Given the description of an element on the screen output the (x, y) to click on. 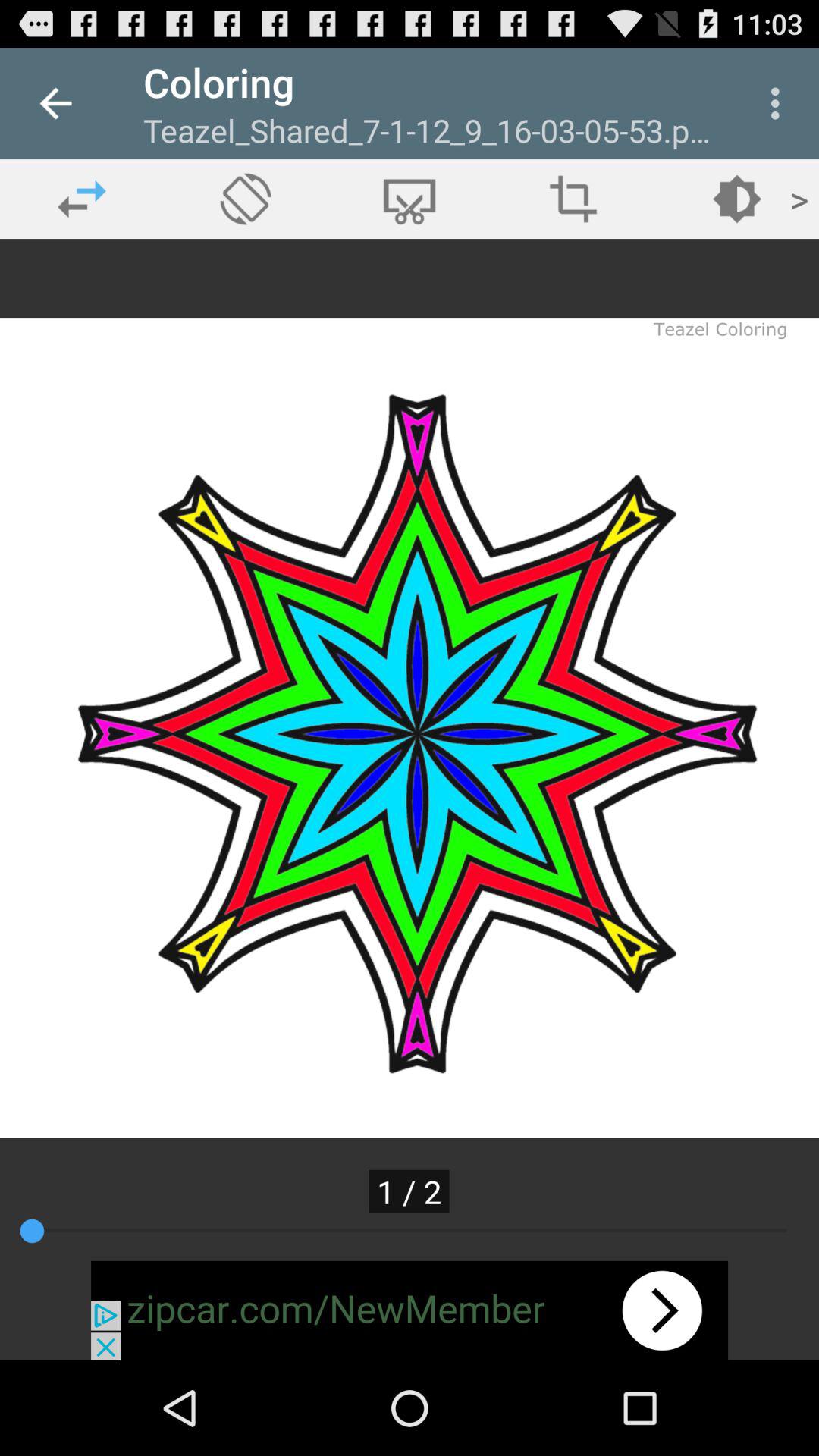
invert image option (573, 198)
